Given the description of an element on the screen output the (x, y) to click on. 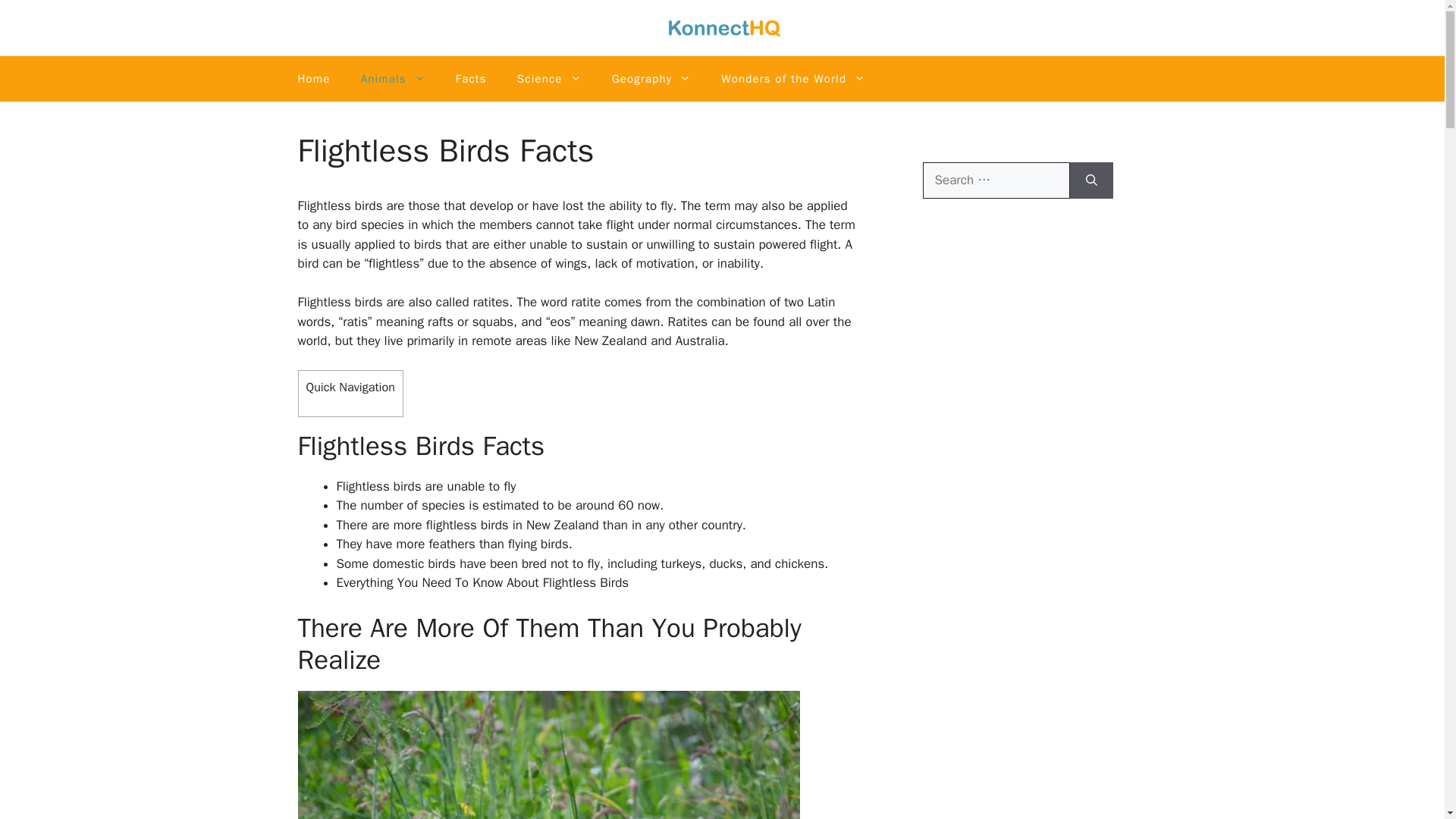
Search for: (994, 180)
Home (313, 78)
Science (549, 78)
Geography (651, 78)
Animals (393, 78)
Wonders of the World (793, 78)
Facts (471, 78)
